Given the description of an element on the screen output the (x, y) to click on. 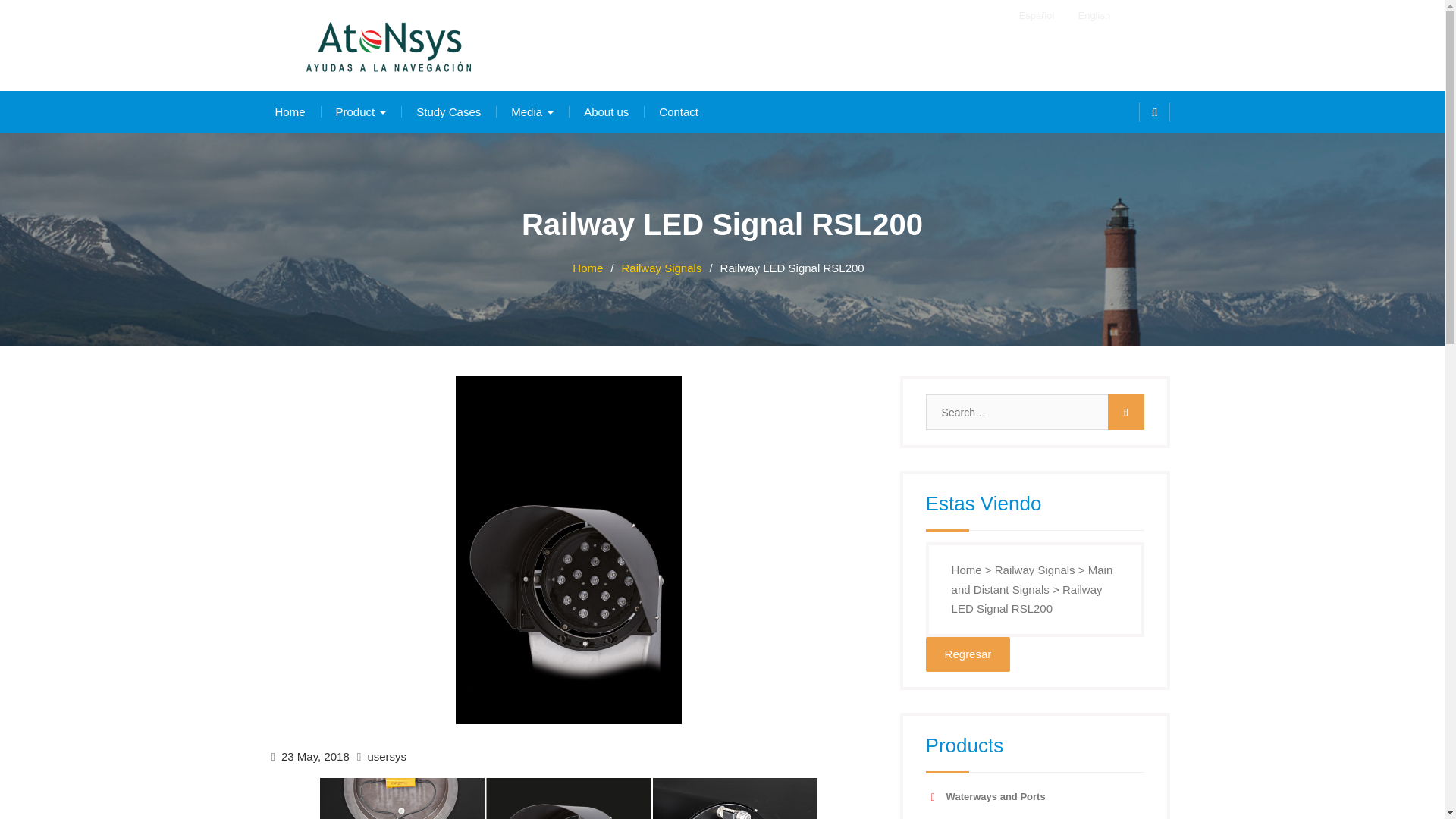
Search for: (1035, 411)
Regresar (968, 654)
